Given the description of an element on the screen output the (x, y) to click on. 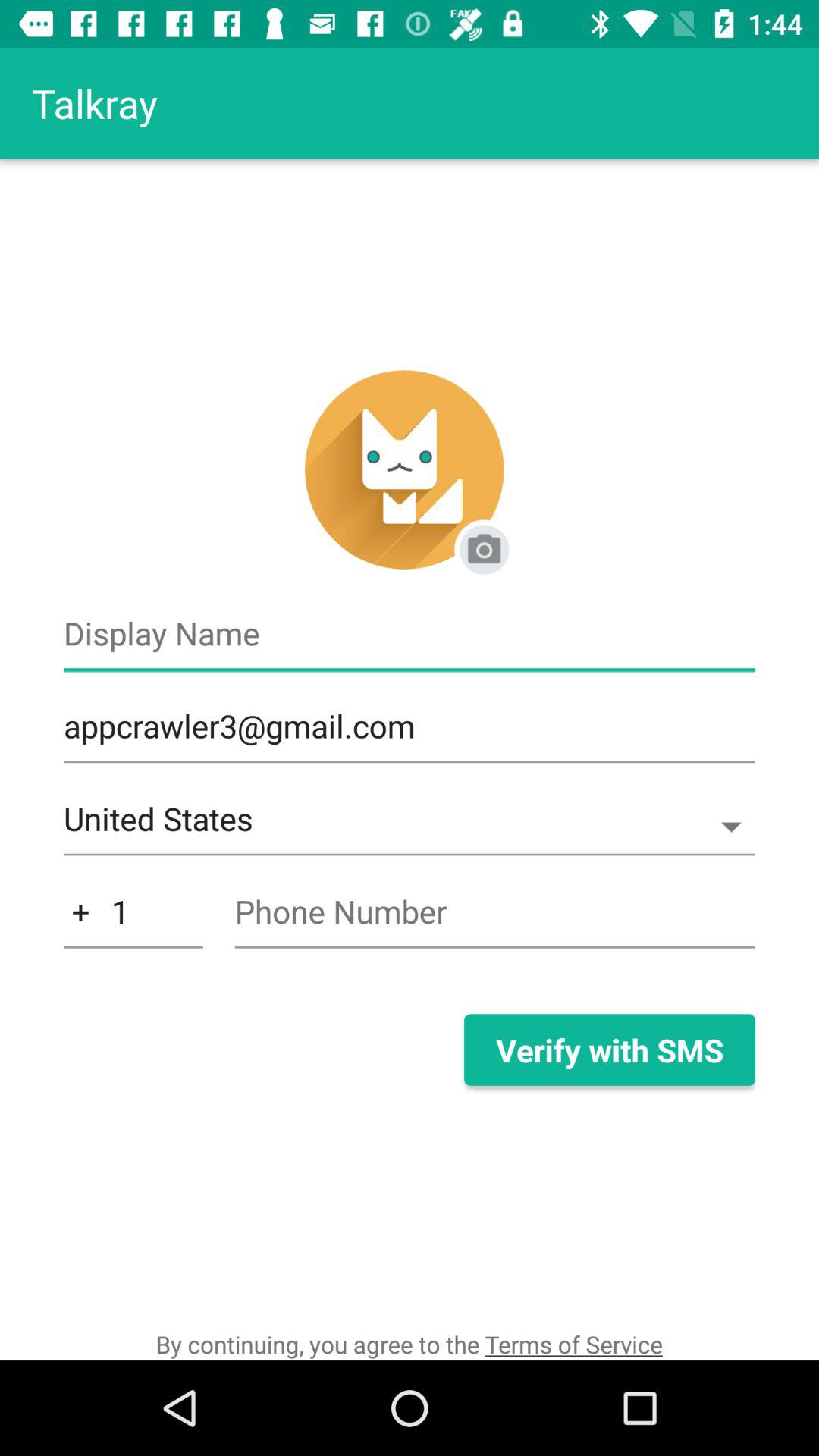
select item below the verify with sms icon (408, 1344)
